Given the description of an element on the screen output the (x, y) to click on. 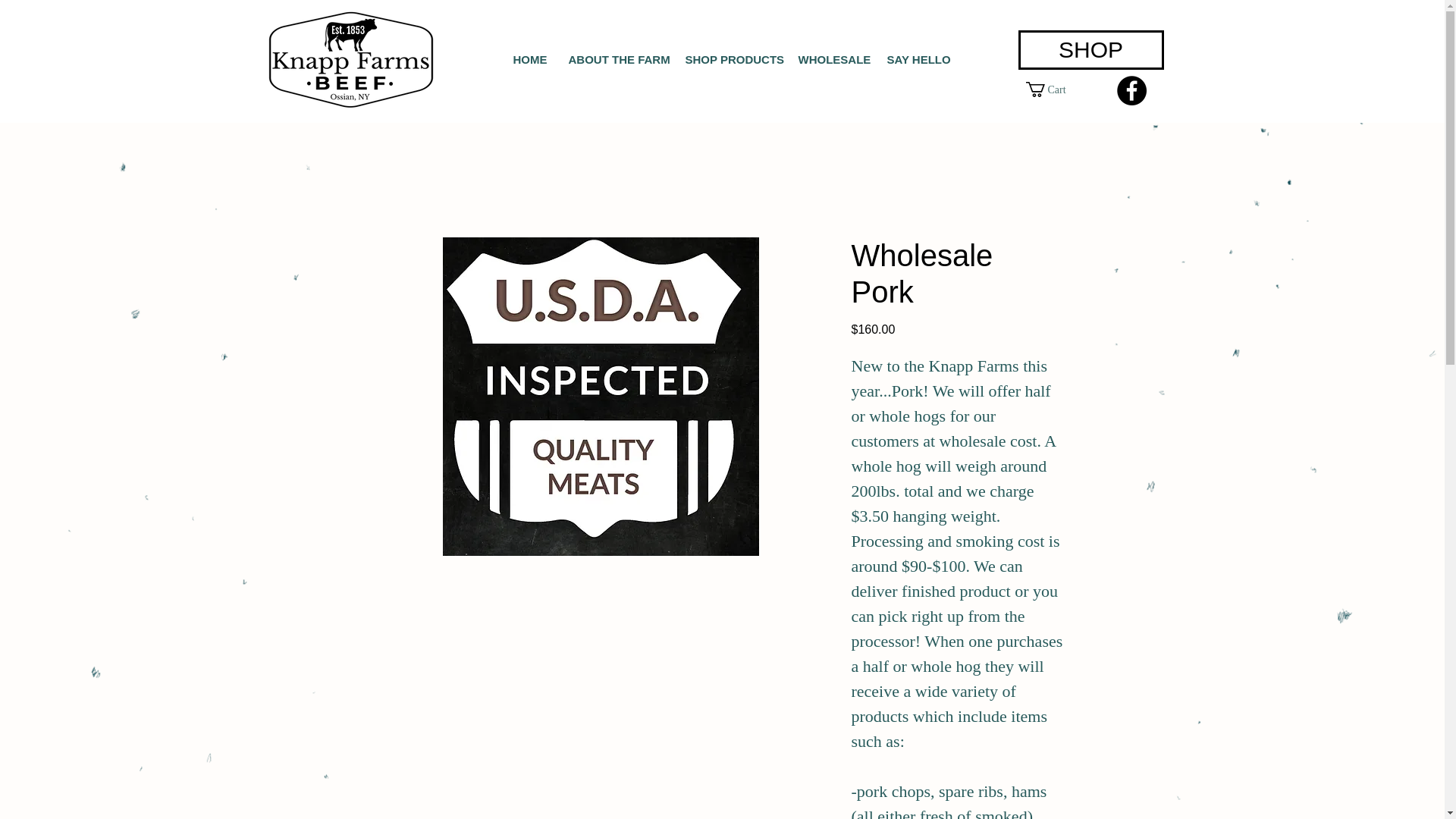
Cart (1052, 89)
SHOP (1090, 49)
HOME (529, 59)
SHOP PRODUCTS (729, 59)
WHOLESALE (831, 59)
SAY HELLO (915, 59)
Cart (1052, 89)
ABOUT THE FARM (614, 59)
